Given the description of an element on the screen output the (x, y) to click on. 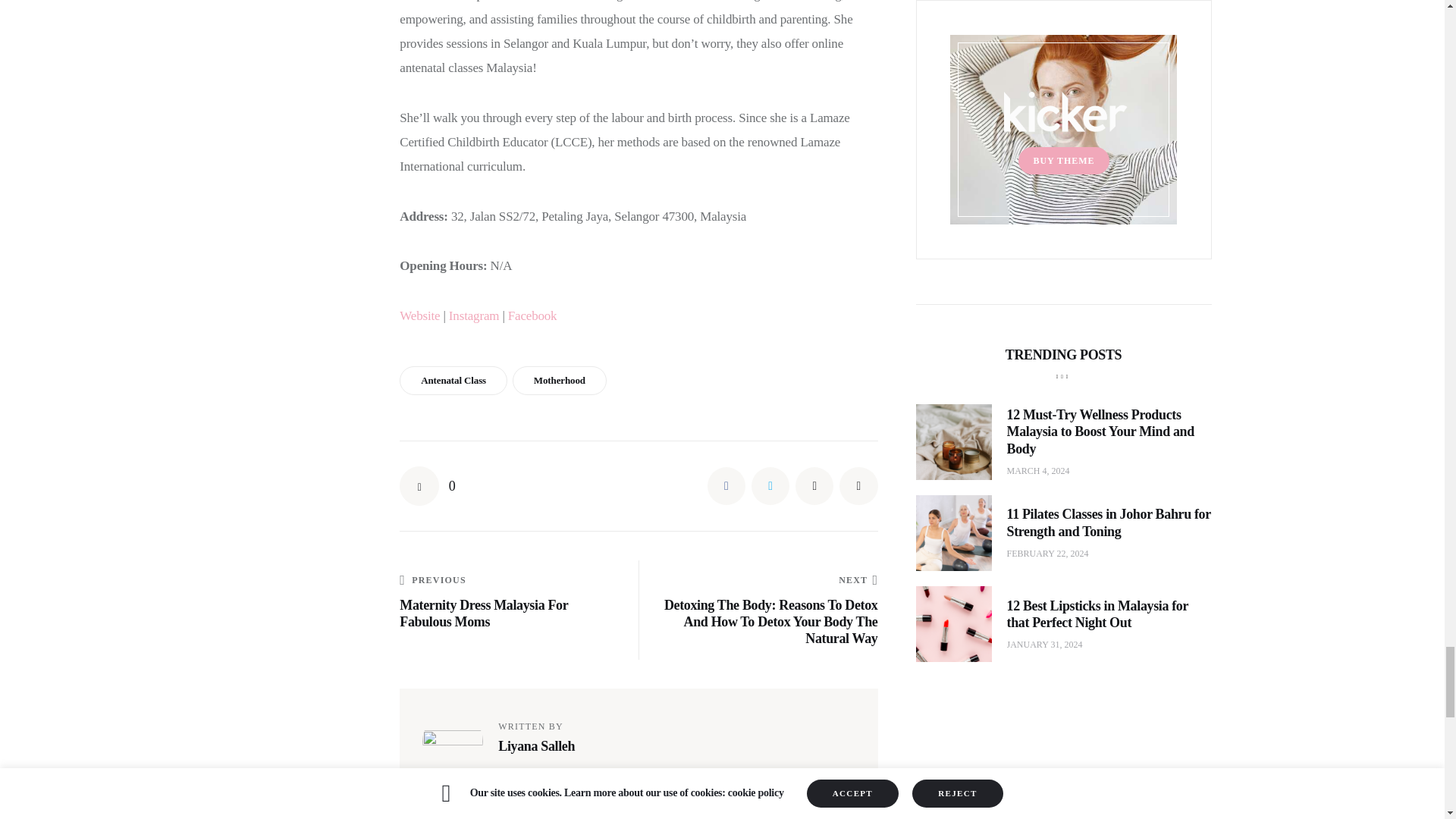
Copy URL to clipboard (858, 485)
Like (426, 486)
